Given the description of an element on the screen output the (x, y) to click on. 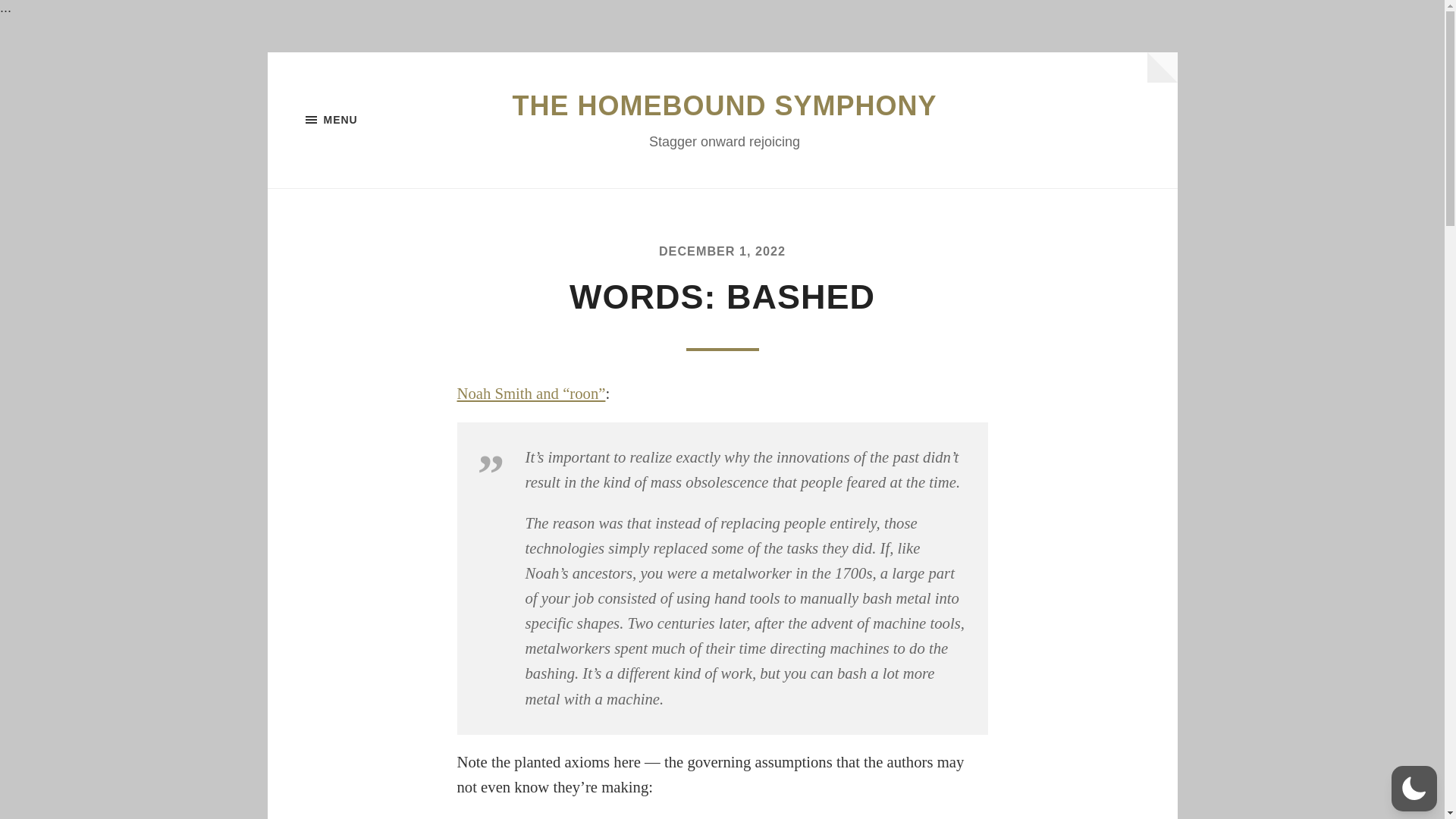
DECEMBER 1, 2022 (722, 250)
MENU (380, 119)
THE HOMEBOUND SYMPHONY (724, 105)
